Given the description of an element on the screen output the (x, y) to click on. 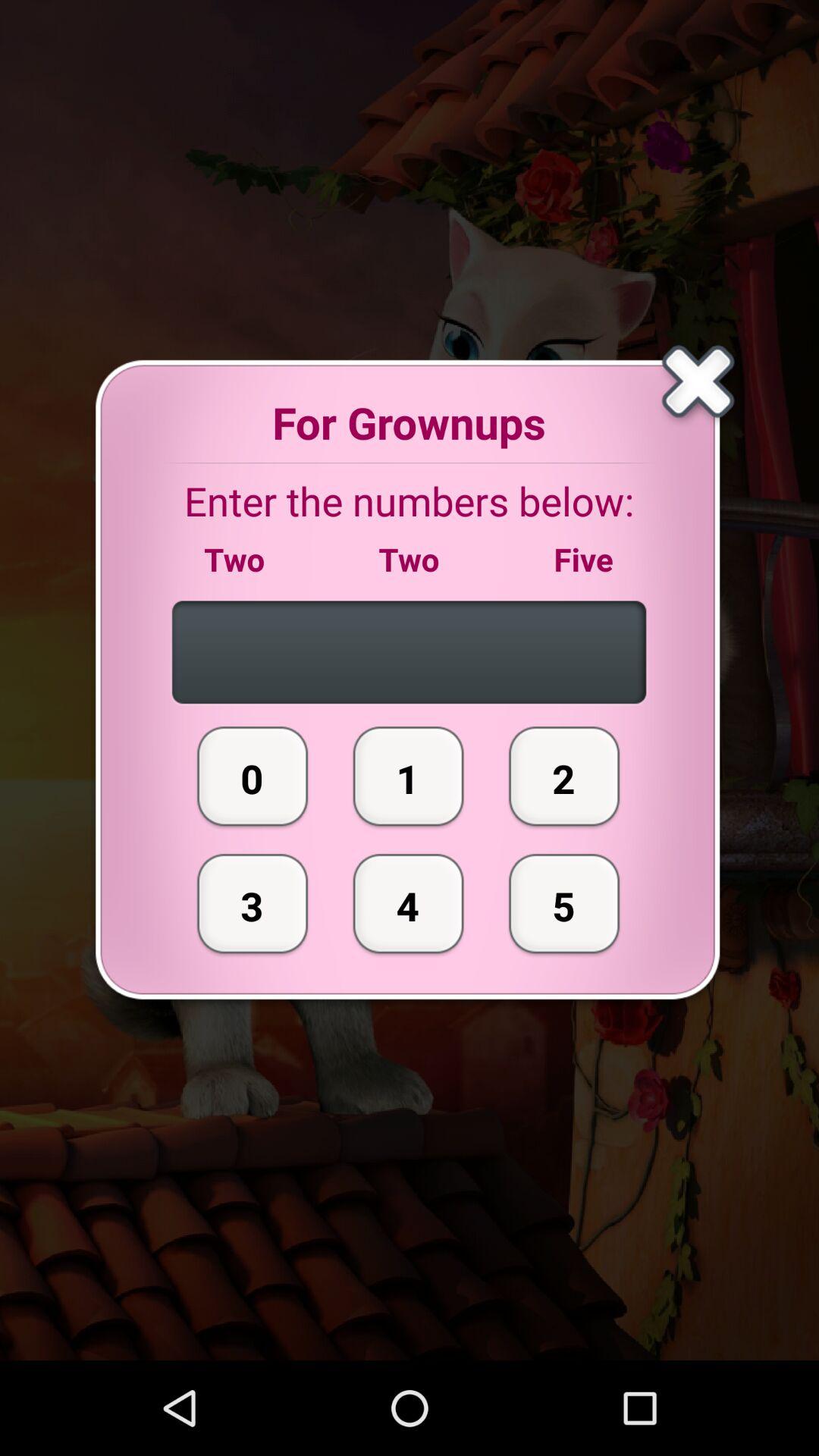
click icon above 4 (408, 776)
